Given the description of an element on the screen output the (x, y) to click on. 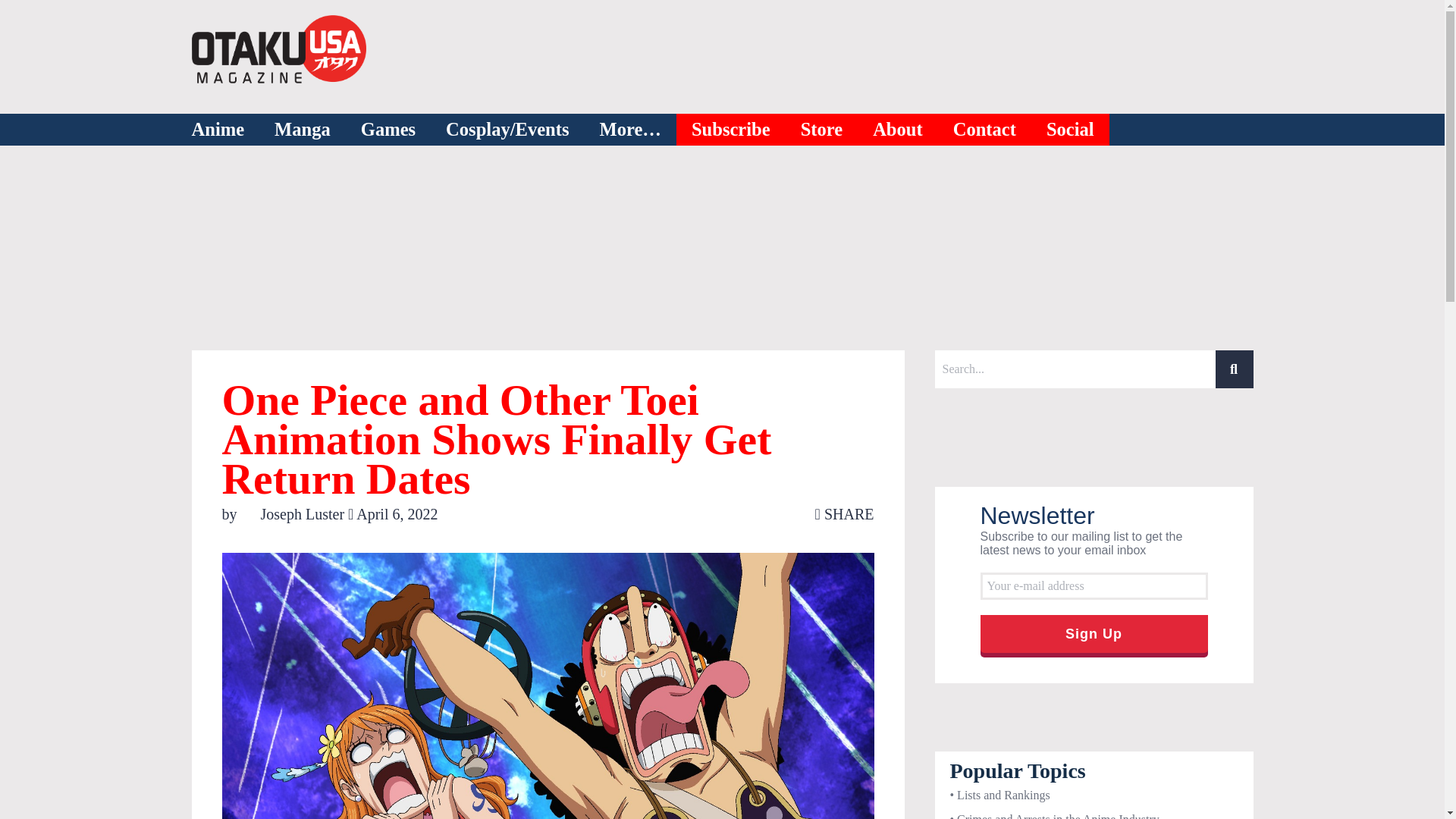
Games (387, 129)
Manga (302, 129)
Anime (217, 129)
Joseph Luster (293, 514)
Subscribe (730, 129)
Social (1070, 129)
Store (821, 129)
Sign Up (1093, 633)
SHARE (845, 514)
About (897, 129)
Contact (984, 129)
